Given the description of an element on the screen output the (x, y) to click on. 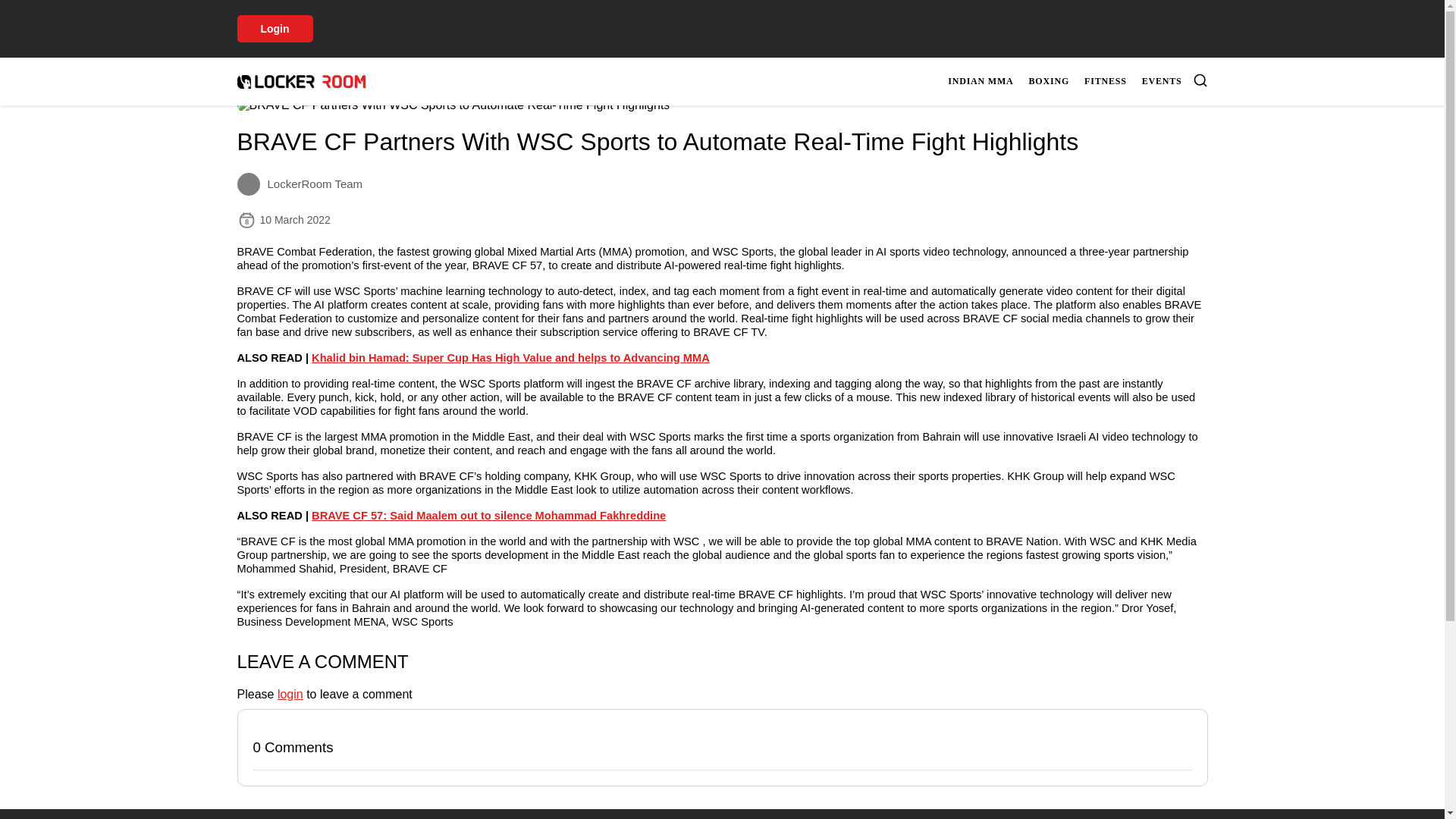
EVENTS (1161, 81)
BOXING (1049, 81)
INDIAN MMA (980, 81)
FITNESS (1105, 81)
BRAVE CF 57: Said Maalem out to silence Mohammad Fakhreddine (488, 515)
